Given the description of an element on the screen output the (x, y) to click on. 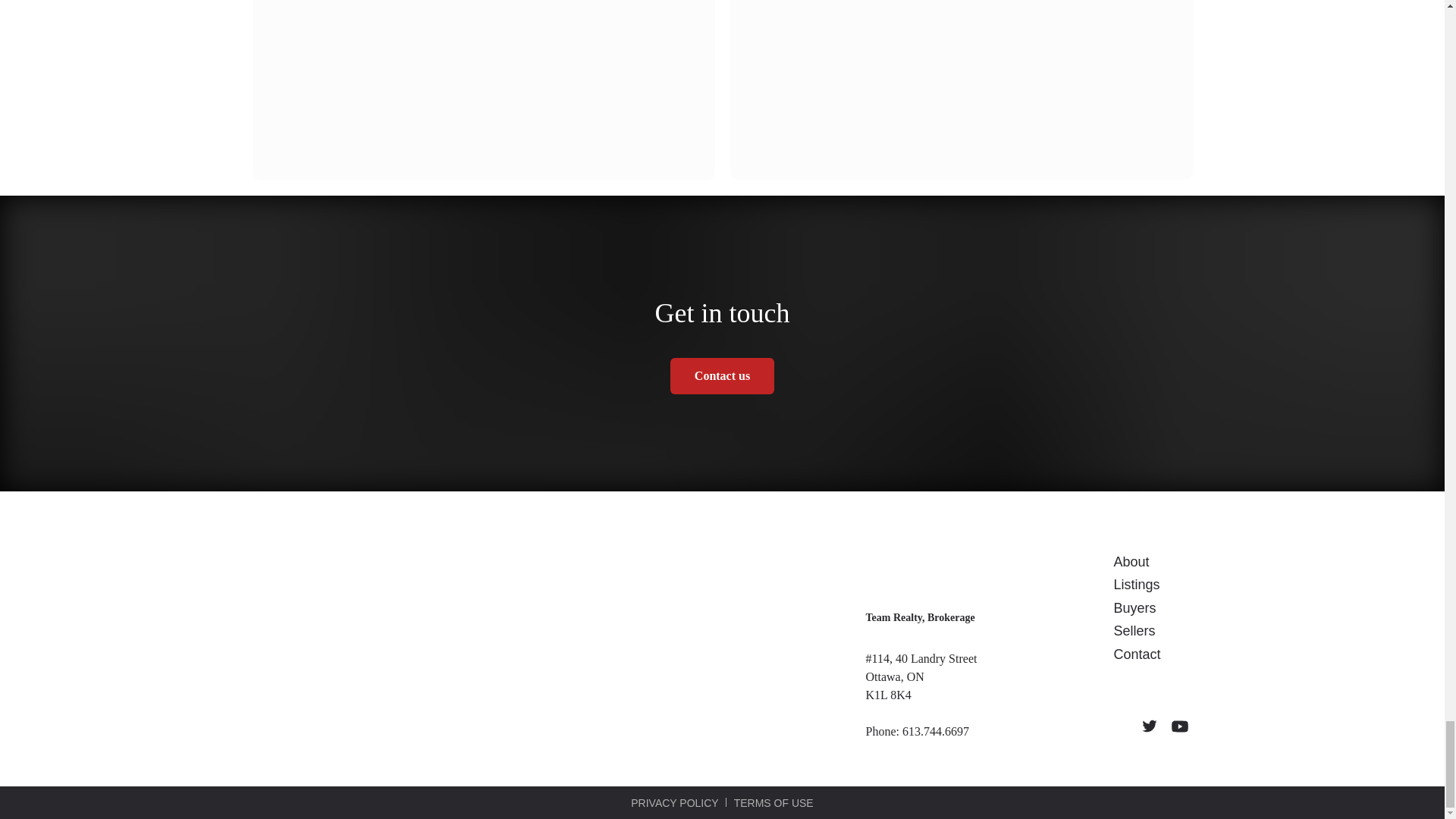
PRIVACY POLICY (674, 803)
Listings (1135, 584)
Contact us (721, 375)
Buyers (1134, 607)
About (1130, 561)
Sellers (1133, 630)
TERMS OF USE (773, 803)
